Given the description of an element on the screen output the (x, y) to click on. 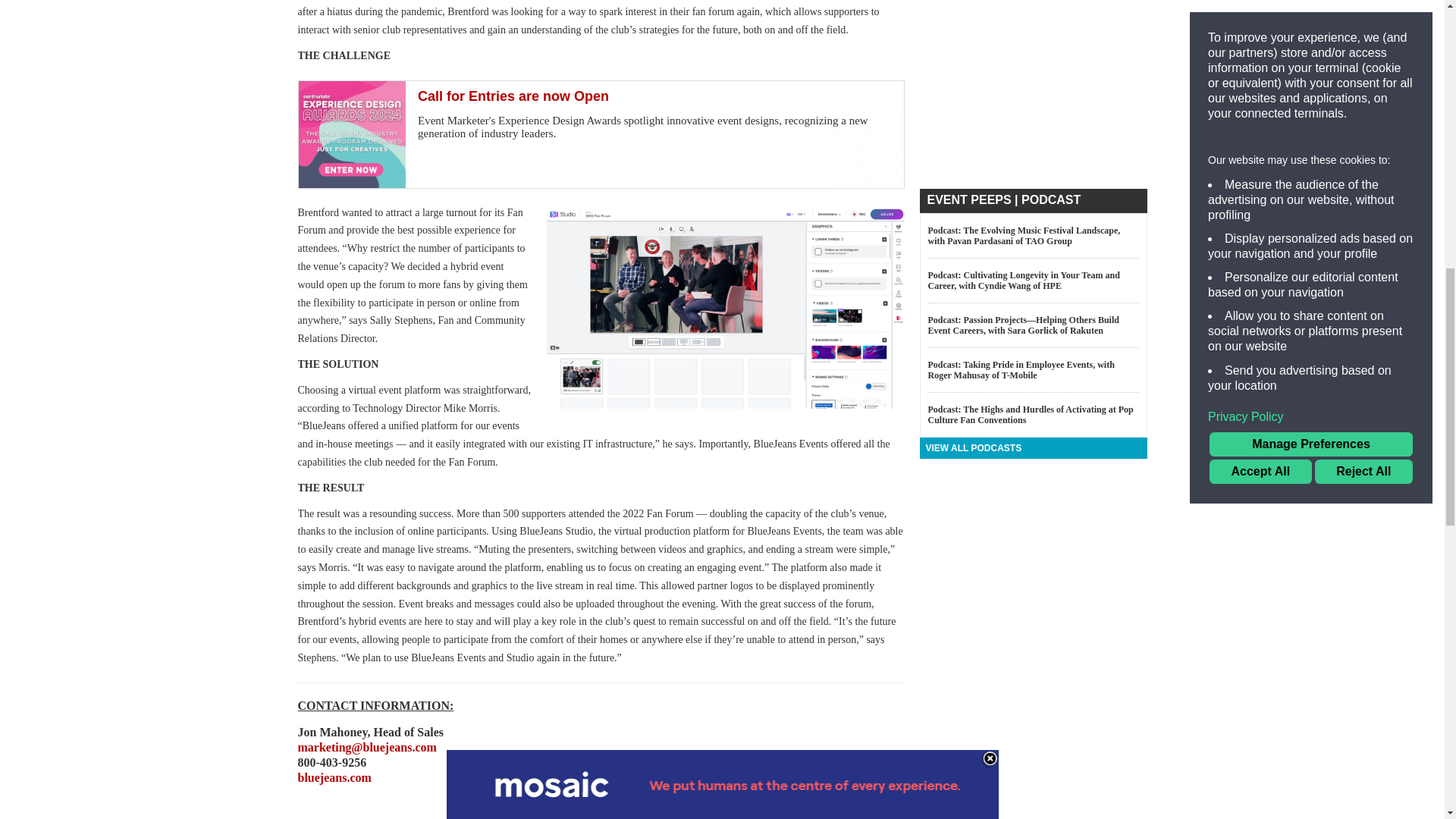
3rd party ad content (1032, 568)
3rd party ad content (1032, 41)
3rd party ad content (600, 134)
3rd party ad content (1032, 135)
3rd party ad content (1032, 716)
